Given the description of an element on the screen output the (x, y) to click on. 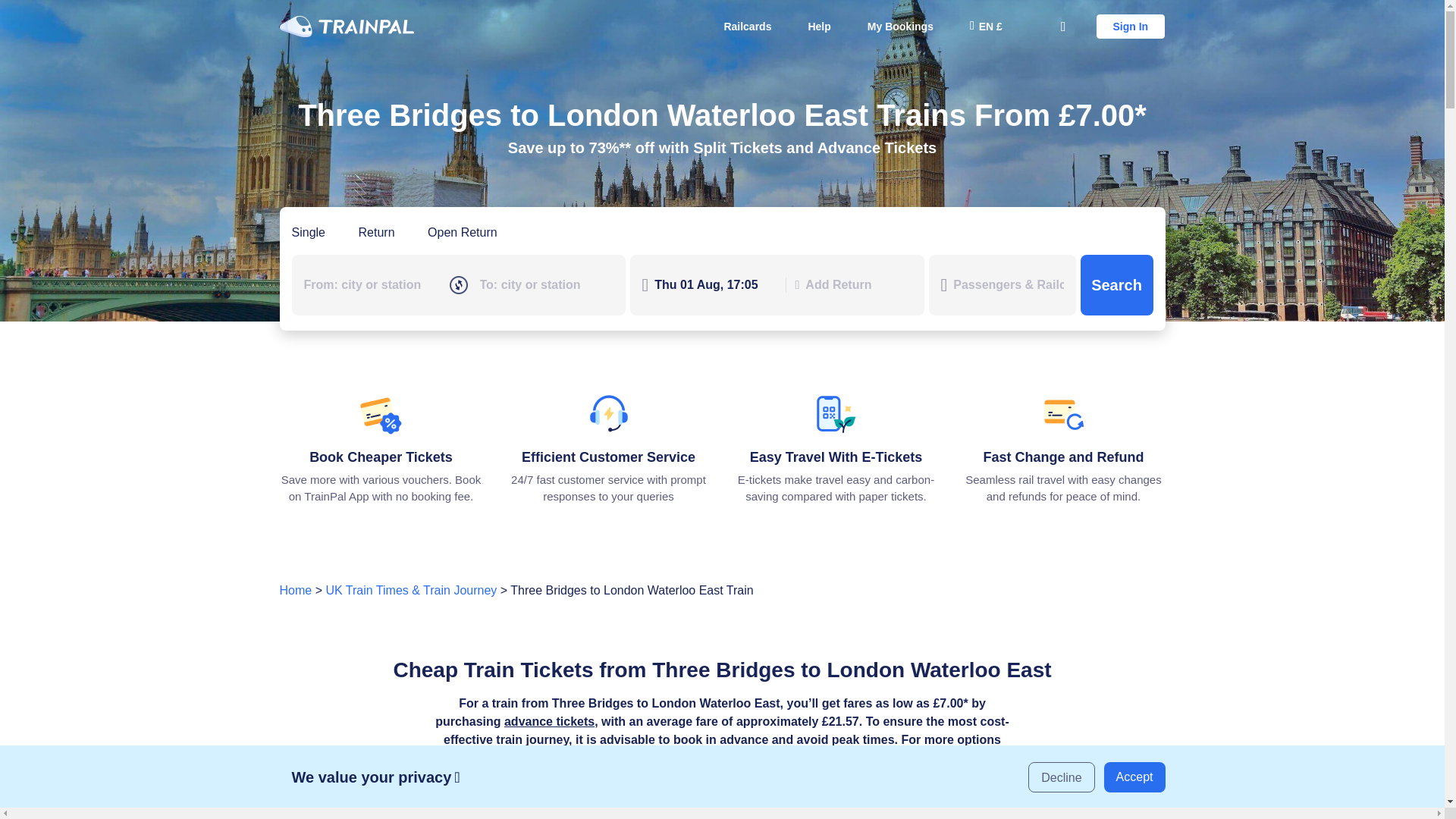
Railcards (747, 26)
Sign In (1131, 26)
My Bookings (900, 26)
Thu 01 Aug, 17:05 (714, 284)
Help (818, 26)
